Given the description of an element on the screen output the (x, y) to click on. 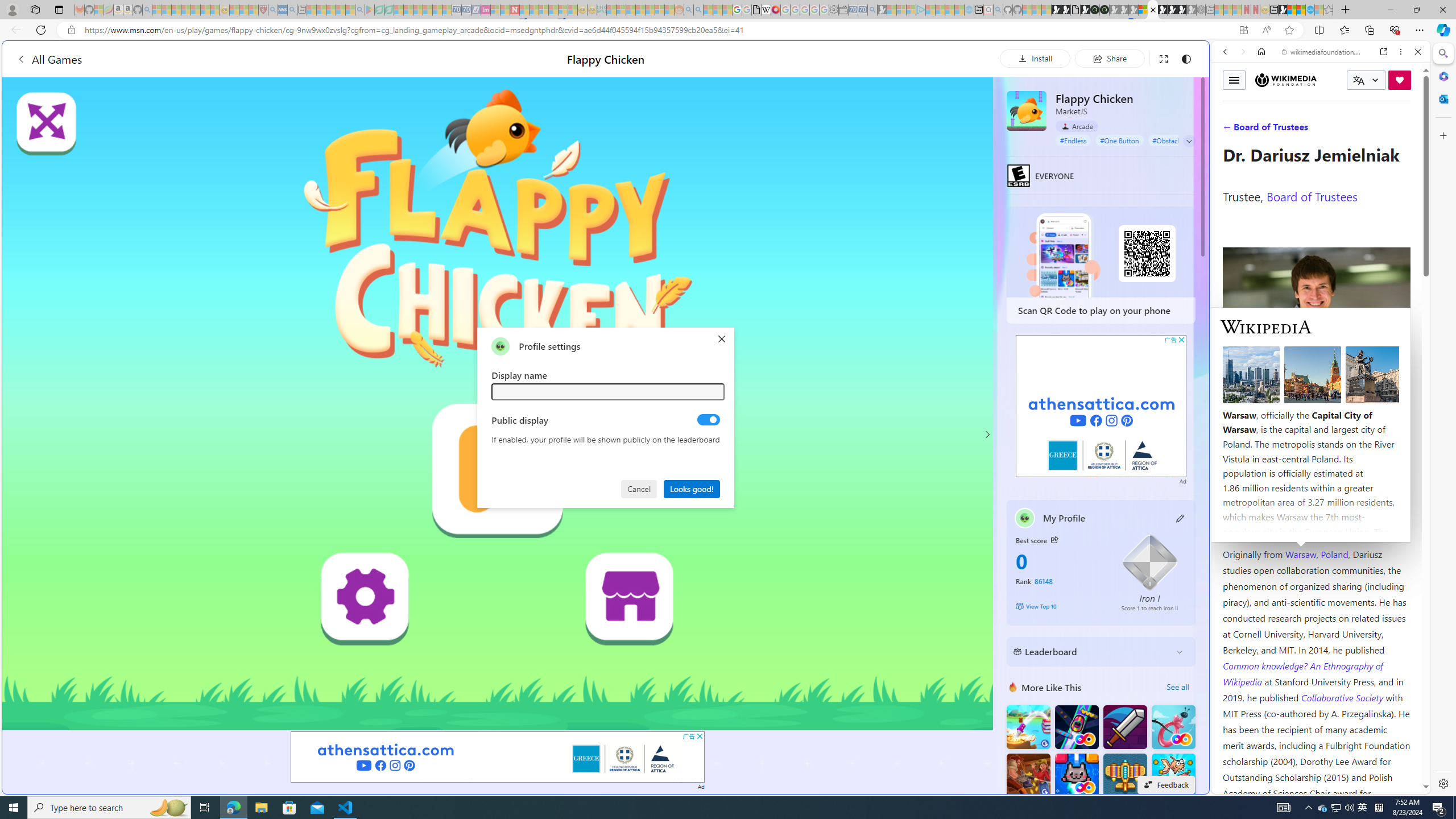
Board of Trustees (1311, 195)
Actions for this site (1370, 583)
Local - MSN - Sleeping (253, 9)
Toggle menu (1233, 80)
Fish Merge FRVR (1173, 775)
